Given the description of an element on the screen output the (x, y) to click on. 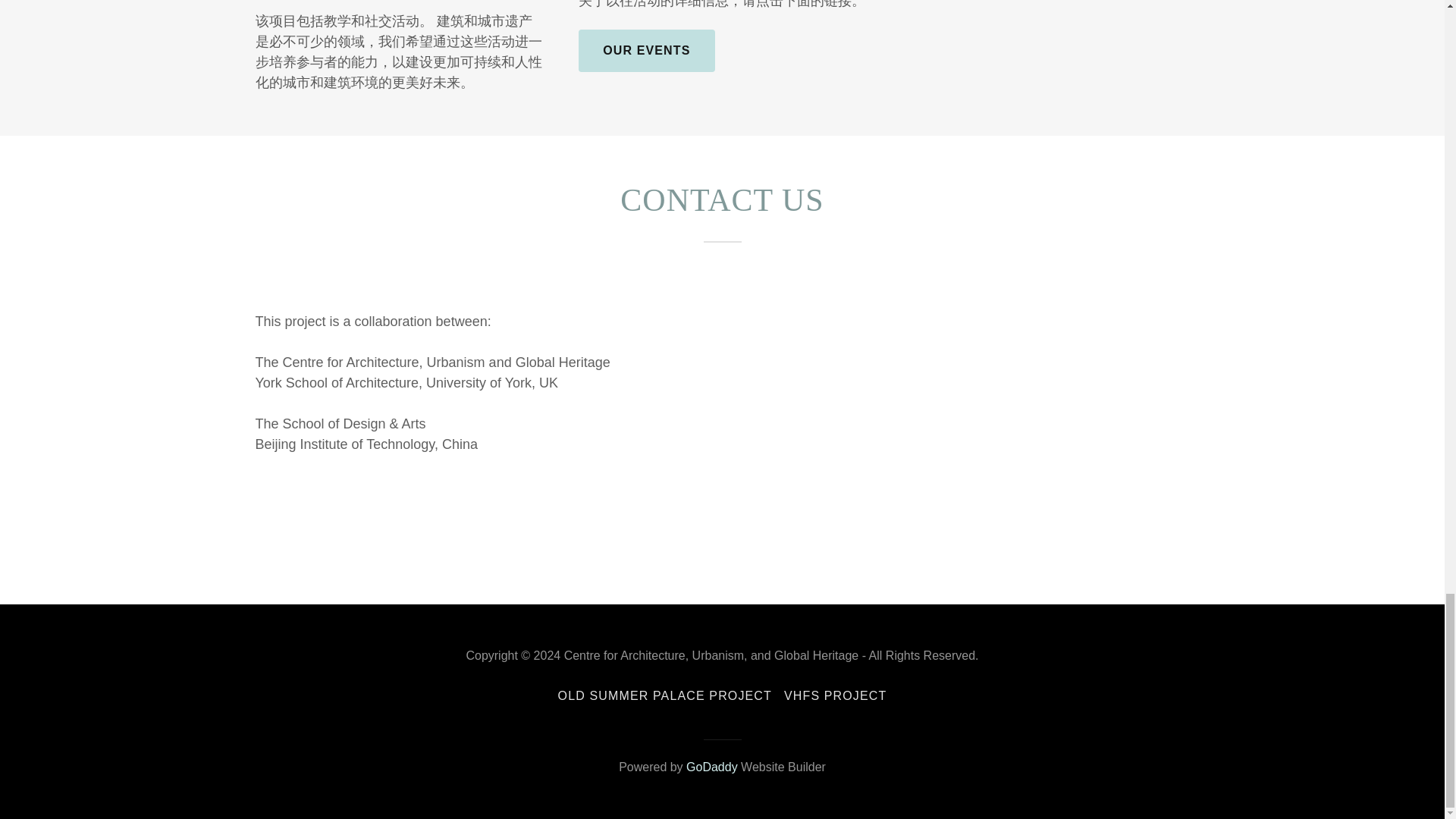
OUR EVENTS (646, 50)
GoDaddy (711, 766)
VHFS PROJECT (834, 696)
OLD SUMMER PALACE PROJECT (664, 696)
